Given the description of an element on the screen output the (x, y) to click on. 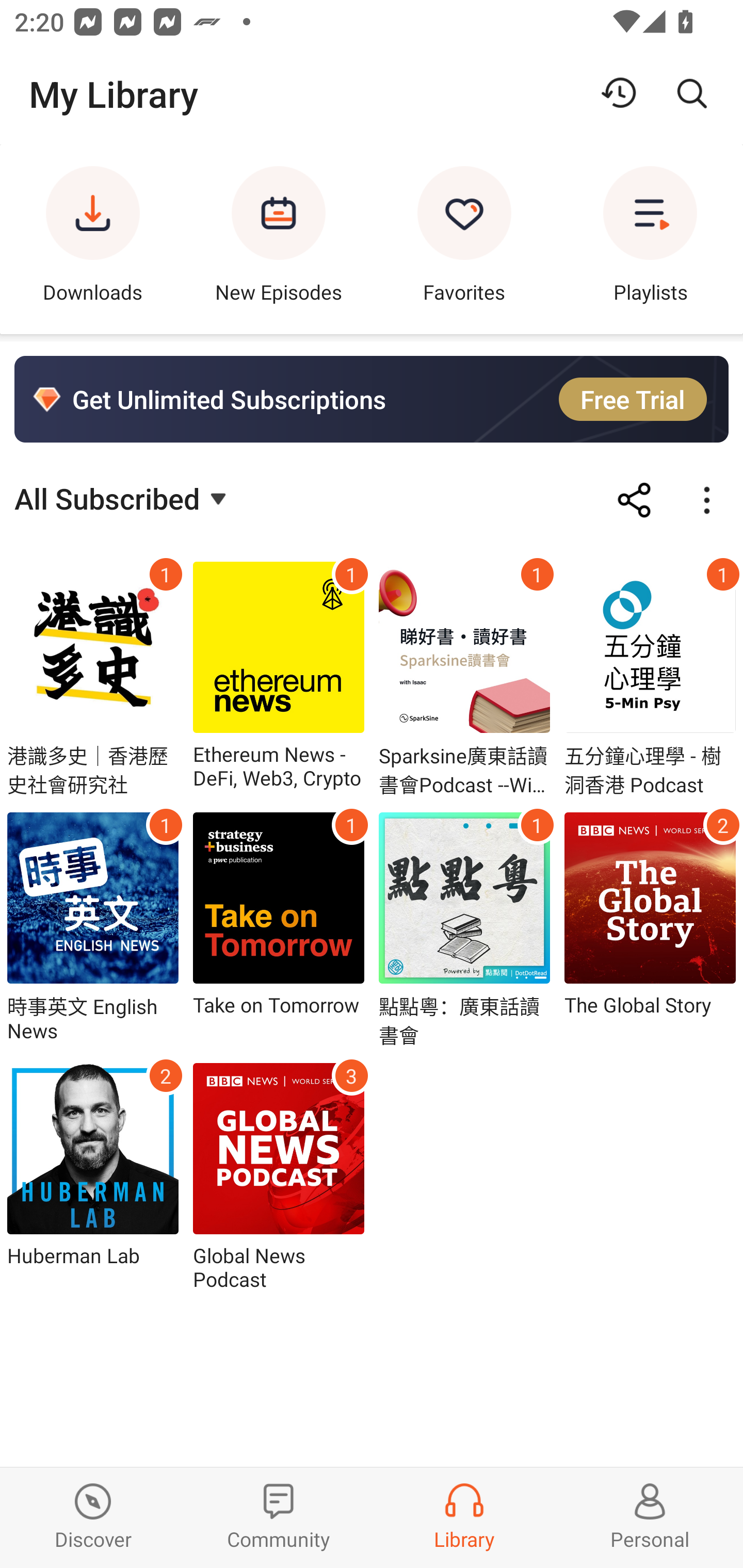
Downloads (92, 238)
New Episodes (278, 238)
Favorites (464, 238)
Playlists (650, 238)
Get Unlimited Subscriptions Free Trial (371, 398)
Free Trial (632, 398)
All Subscribed (123, 497)
港識多史｜香港歷史社會研究社 1 港識多史｜香港歷史社會研究社 (92, 679)
五分鐘心理學 - 樹洞香港 Podcast 1 五分鐘心理學 - 樹洞香港 Podcast (650, 679)
時事英文 English News 1 時事英文 English News (92, 929)
Take on Tomorrow 1 Take on Tomorrow (278, 929)
點點粵：廣東話讀書會 1 點點粵：廣東話讀書會 (464, 929)
The Global Story 2 The Global Story (650, 929)
Huberman Lab 2 Huberman Lab (92, 1177)
Global News Podcast 3 Global News Podcast (278, 1177)
Discover (92, 1517)
Community (278, 1517)
Library (464, 1517)
Profiles and Settings Personal (650, 1517)
